Given the description of an element on the screen output the (x, y) to click on. 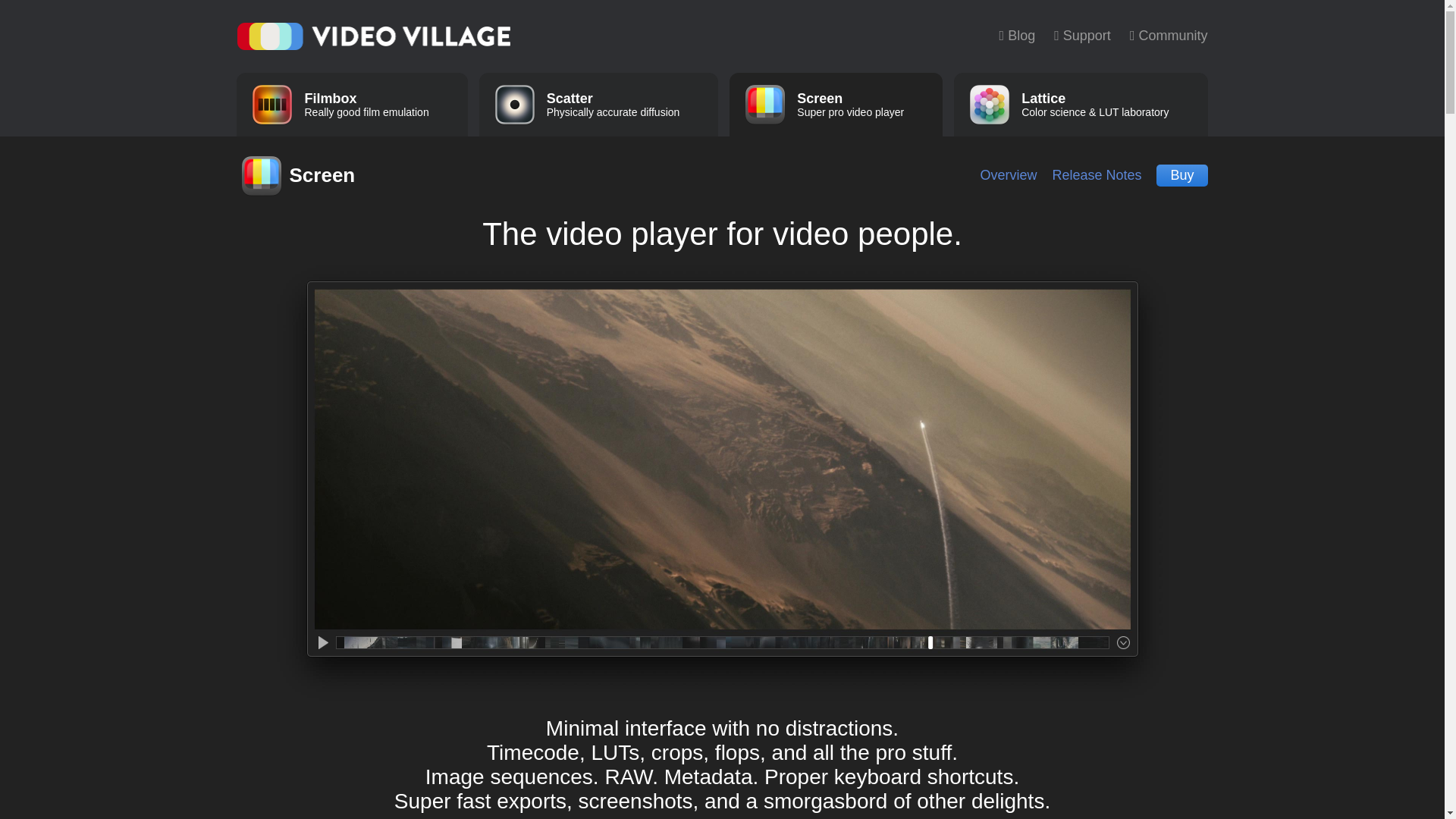
Screen (298, 175)
Release Notes (599, 104)
Support (351, 104)
Community (1095, 175)
Blog (1079, 35)
Buy (1166, 35)
Overview (1016, 35)
